Given the description of an element on the screen output the (x, y) to click on. 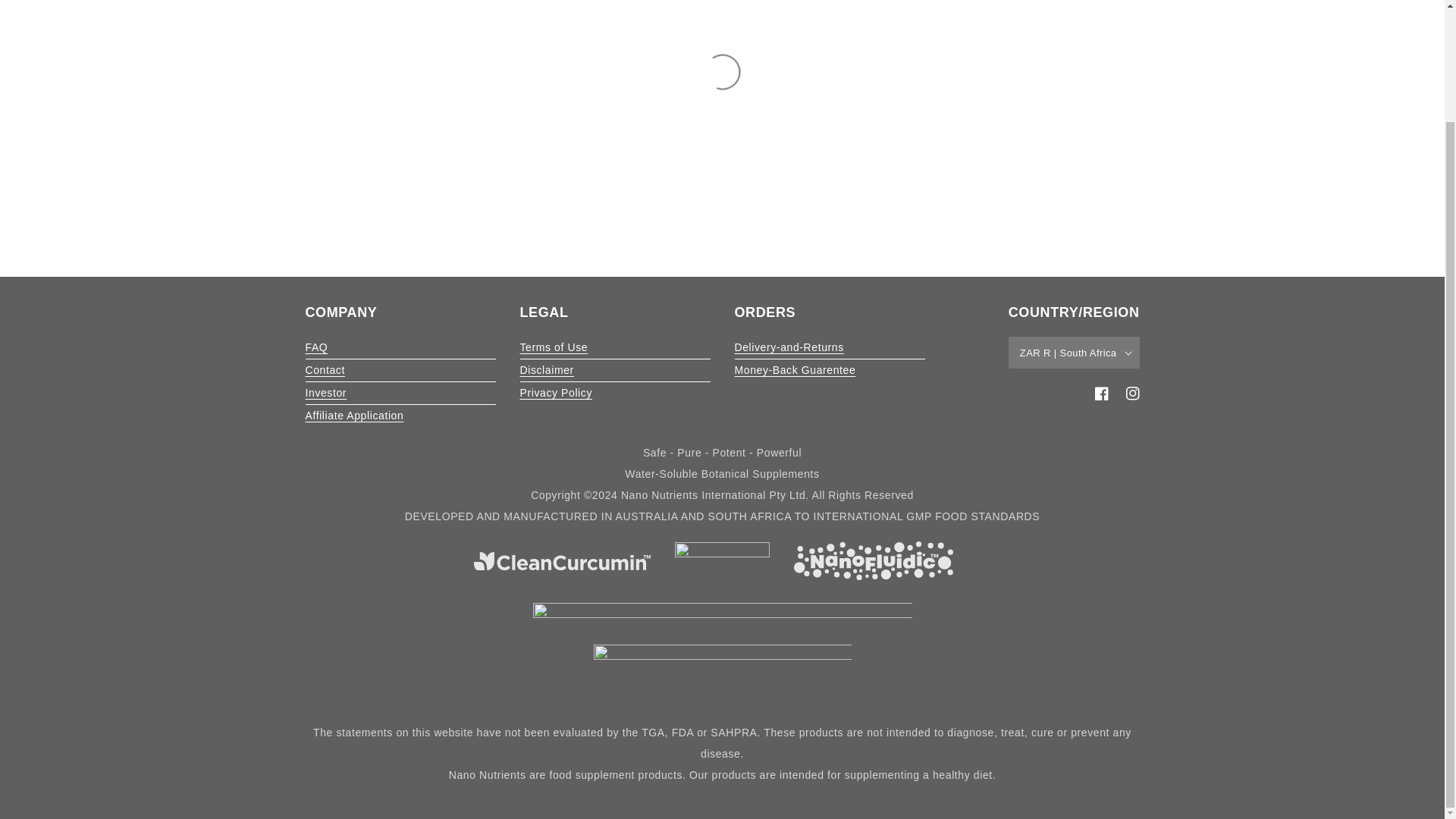
Privacy Policy (555, 393)
Affiliate Application (353, 415)
Investor (325, 393)
Instagram (1128, 393)
Contact (323, 370)
Delivery-and-Returns (788, 347)
Money-Back Guarentee (794, 370)
Disclaimer (546, 370)
Facebook (1101, 393)
FAQ (315, 347)
